Given the description of an element on the screen output the (x, y) to click on. 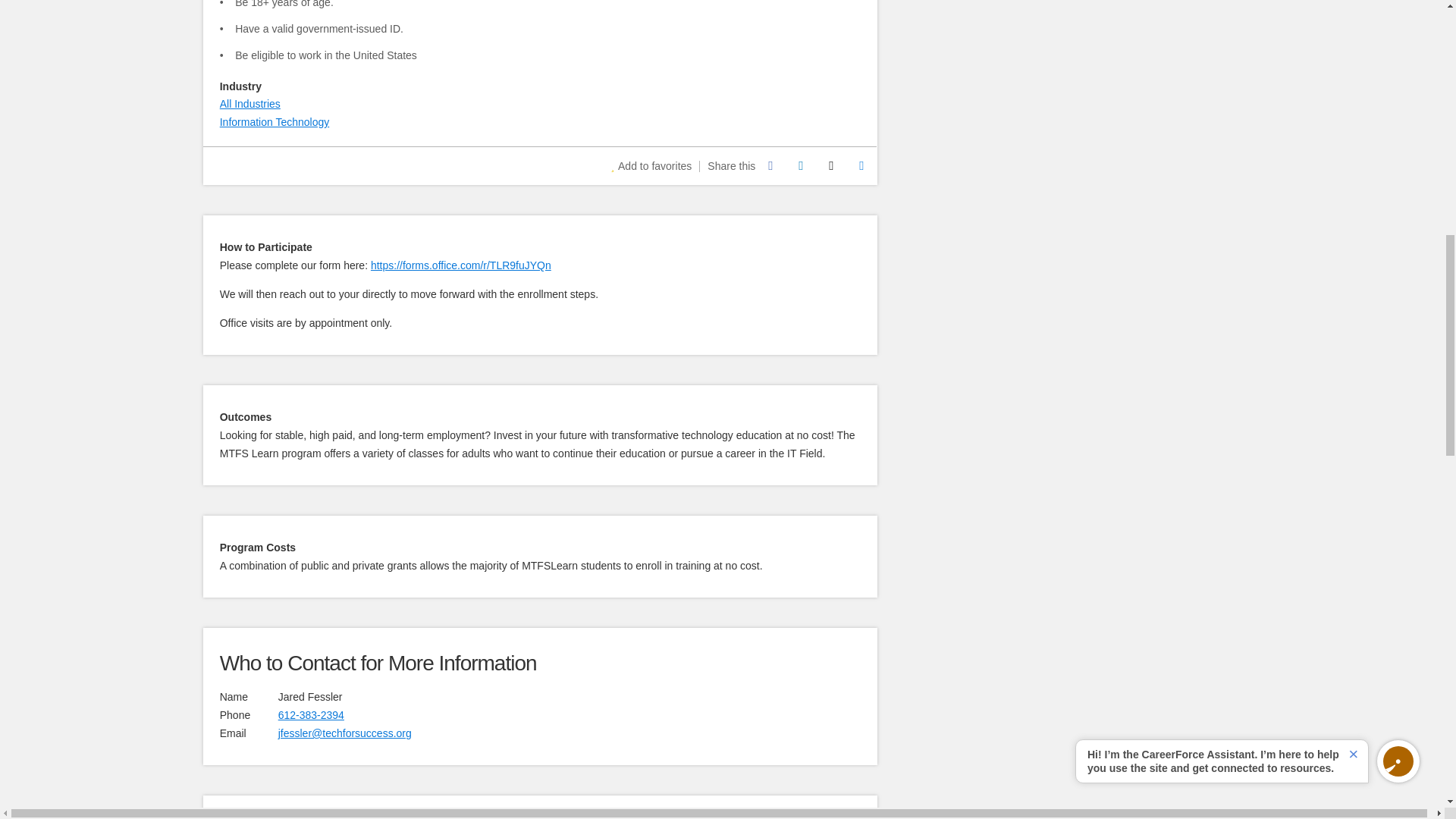
Facebook (770, 165)
Add this to your favorites. (650, 164)
Linkedin (800, 165)
Email (860, 165)
X (830, 165)
